Given the description of an element on the screen output the (x, y) to click on. 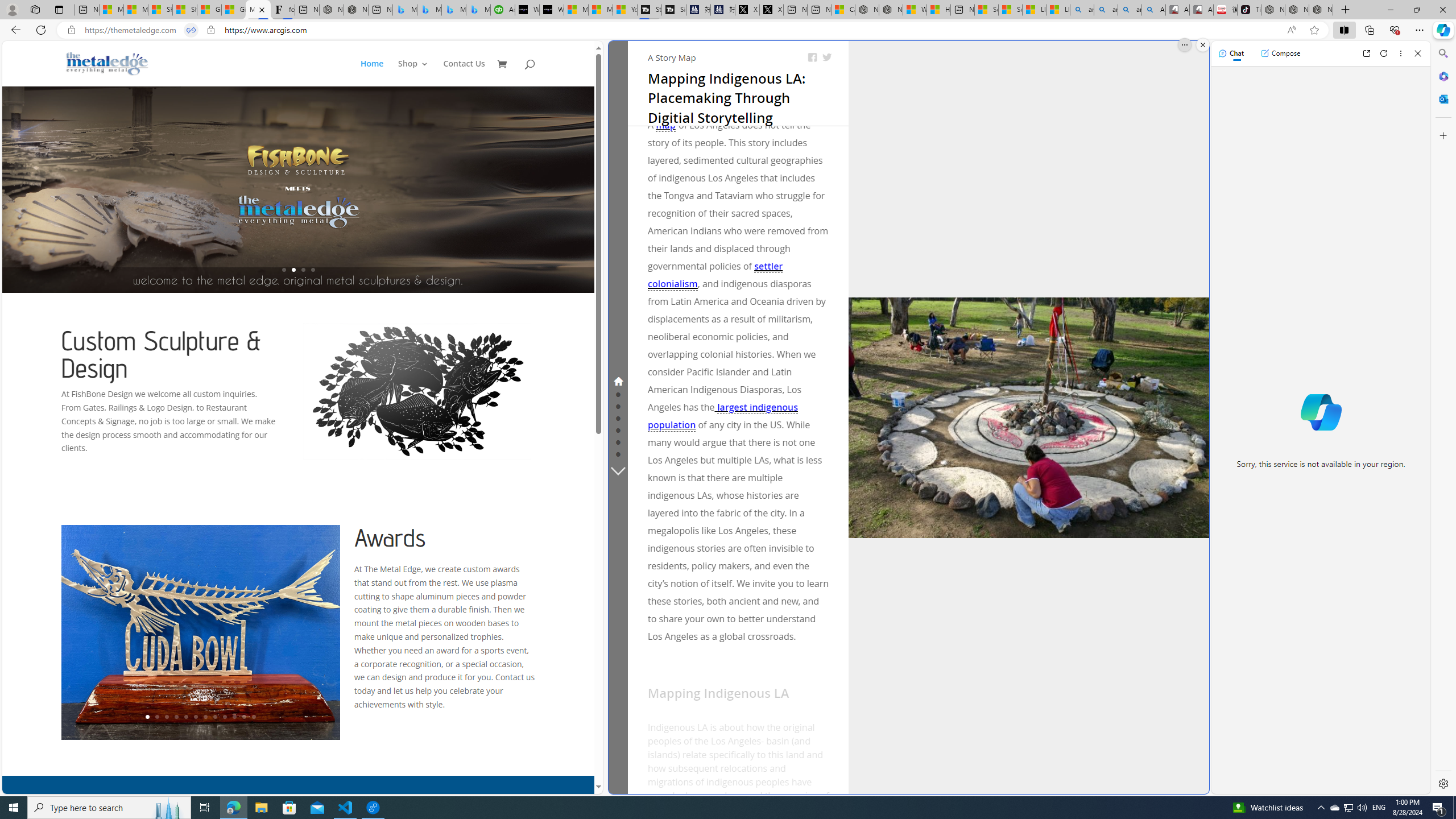
Shop 3 (413, 72)
settler colonialism (715, 275)
Microsoft Bing Travel - Shangri-La Hotel Bangkok (478, 9)
7 (205, 716)
5 (185, 716)
2 (156, 716)
